Given the description of an element on the screen output the (x, y) to click on. 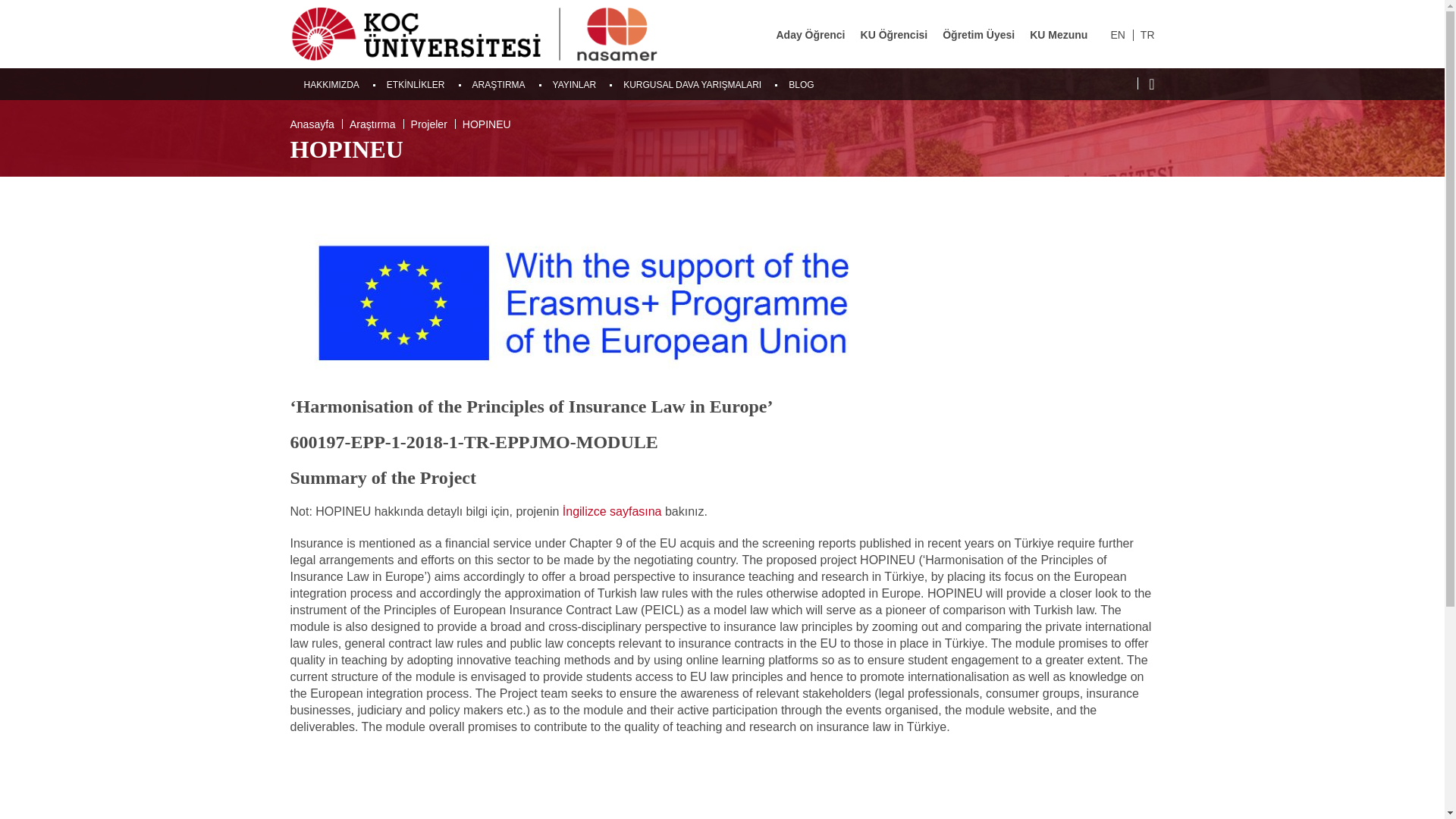
BLOG (801, 84)
ETKINLIKLER (416, 84)
HAKKIMIZDA (330, 84)
KU Mezunu (1058, 34)
TR (1147, 34)
KU (452, 33)
YAYINLAR (574, 84)
EN (1116, 34)
